Given the description of an element on the screen output the (x, y) to click on. 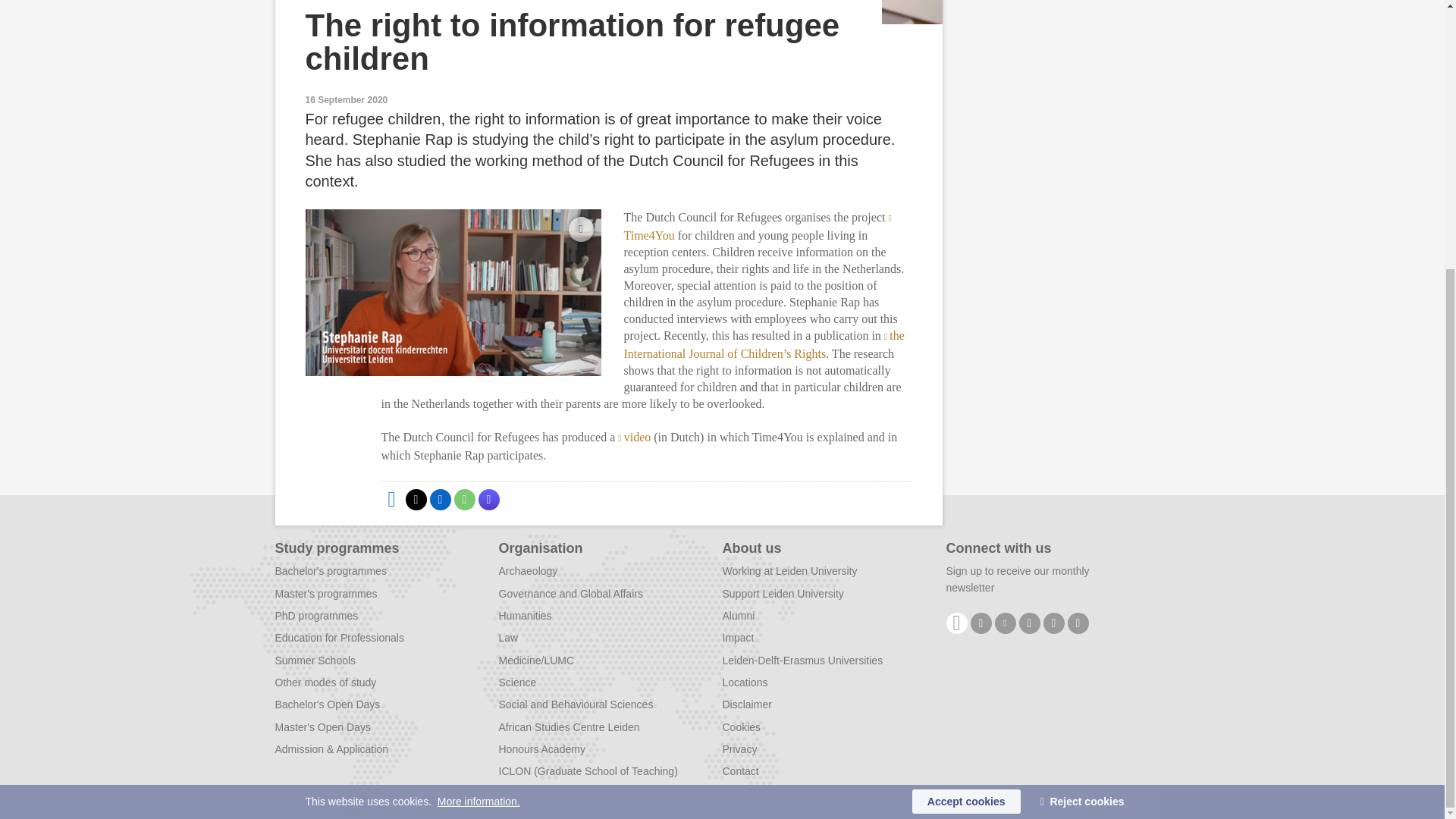
Time4You (758, 225)
Share on Facebook (390, 499)
Share on LinkedIn (439, 499)
Share by WhatsApp (463, 499)
video (633, 436)
Share on X (415, 499)
0 (581, 229)
Share by Mastodon (488, 499)
